Given the description of an element on the screen output the (x, y) to click on. 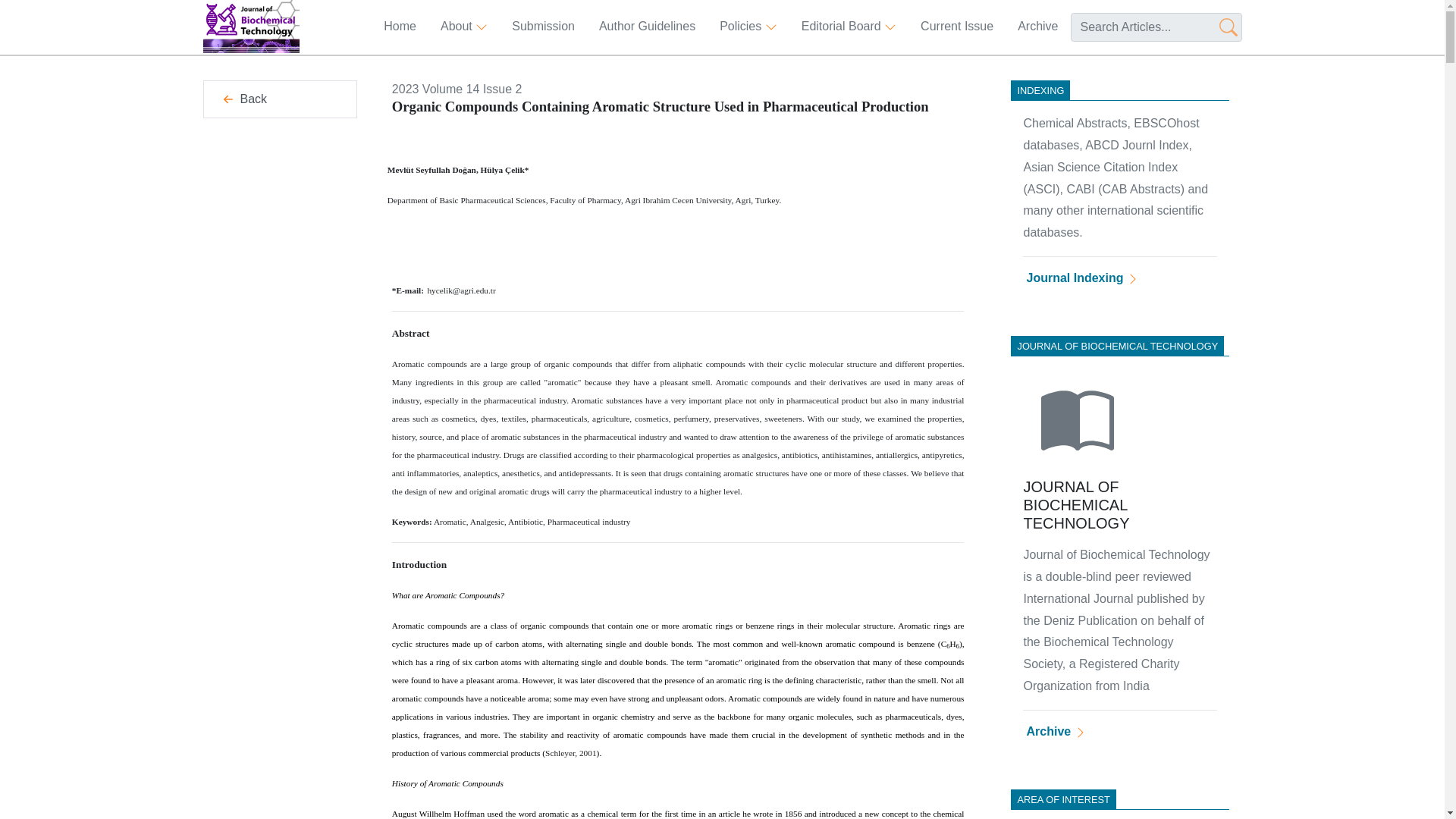
Editorial Board (848, 27)
About (463, 27)
Back (279, 99)
Policies (748, 27)
Current Issue (956, 27)
Home (399, 27)
Author Guidelines (646, 27)
Submission (542, 27)
Archive (1037, 27)
